Given the description of an element on the screen output the (x, y) to click on. 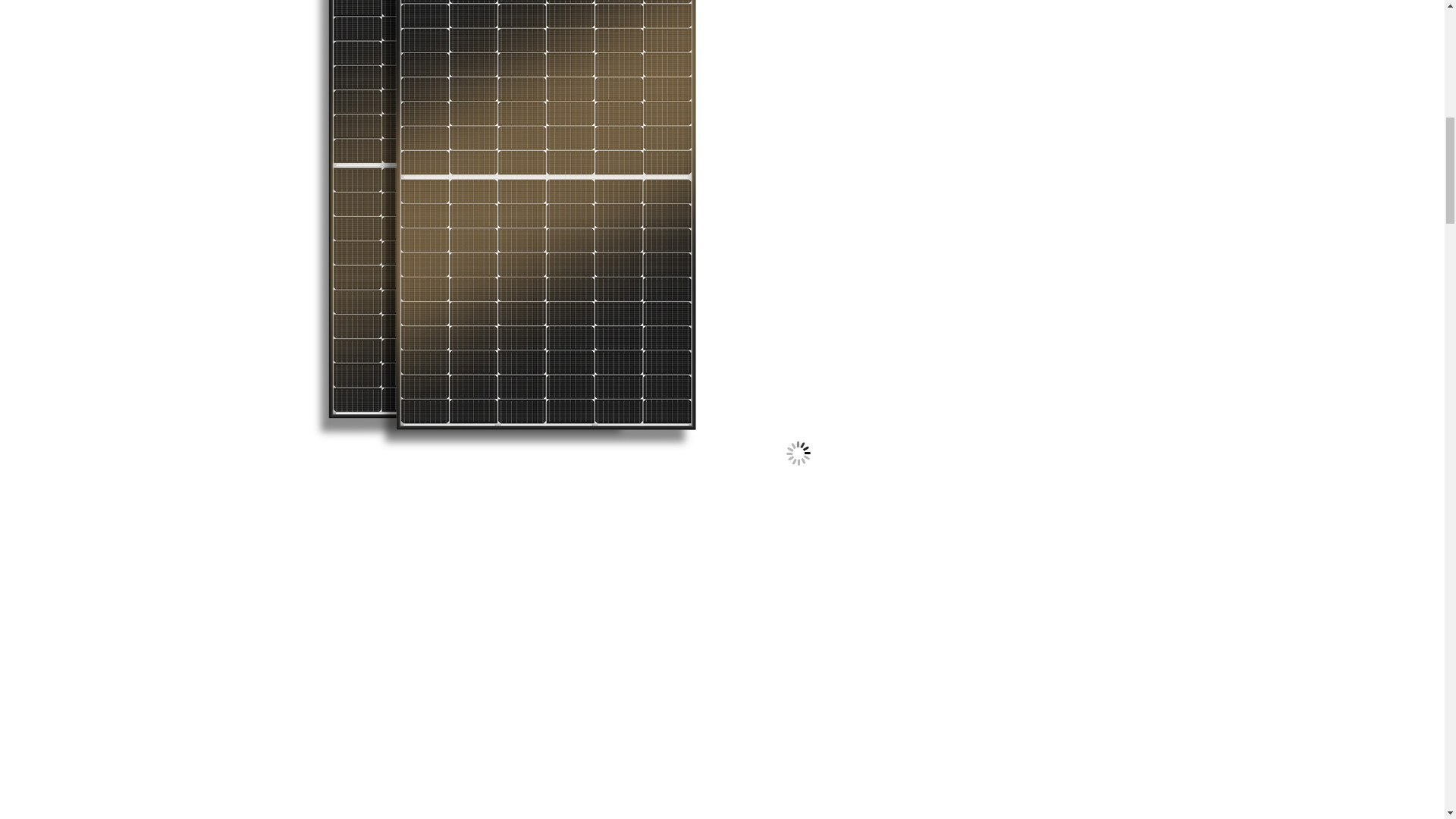
quality-icon-02 (797, 452)
